Given the description of an element on the screen output the (x, y) to click on. 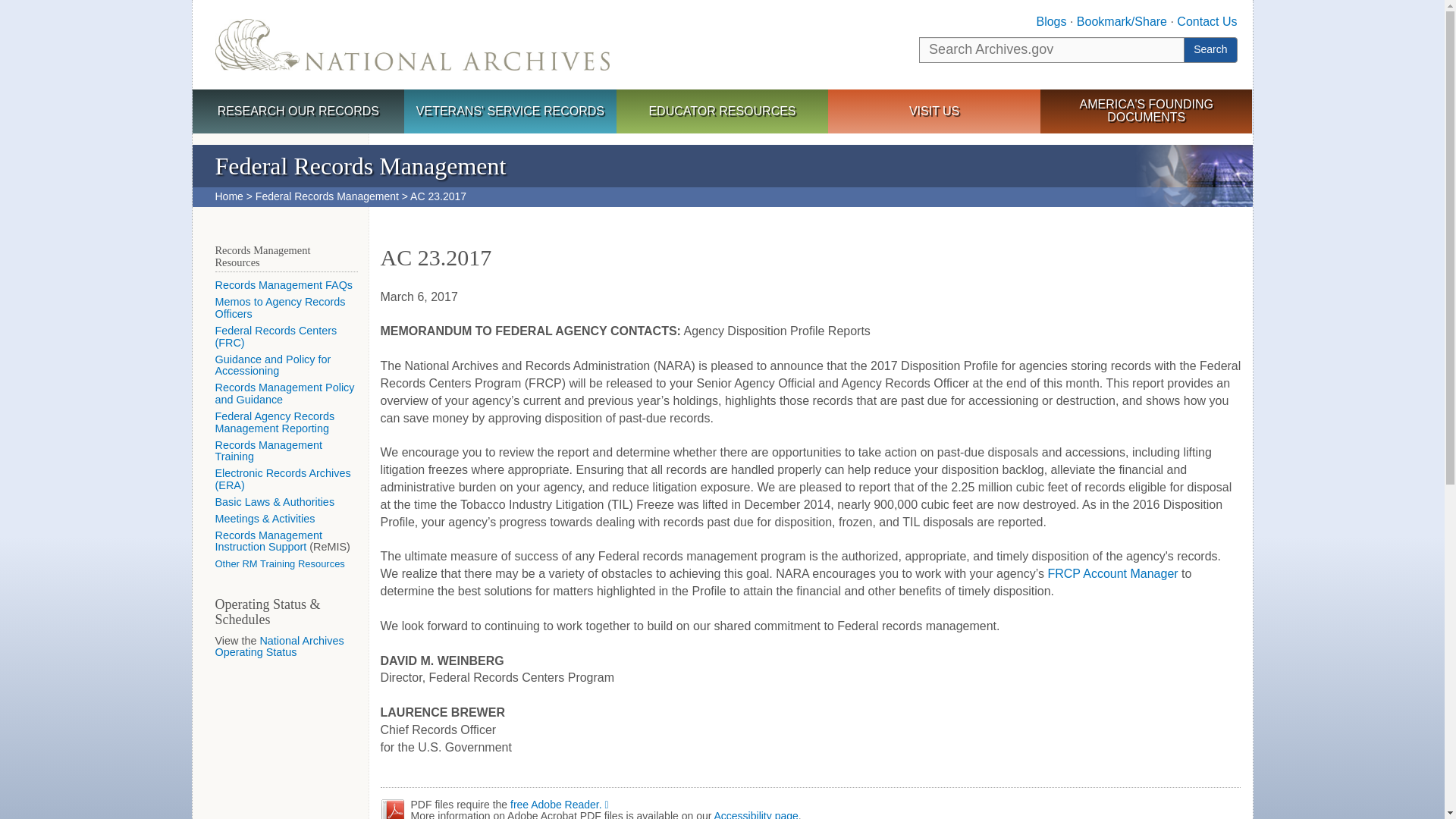
Federal Records Management (327, 196)
VISIT US (934, 111)
AMERICA'S FOUNDING DOCUMENTS (1146, 111)
Contact Us (1206, 21)
Federal Agency Records Management Reporting (274, 422)
VETERANS' SERVICE RECORDS (509, 111)
Records Management Policy and Guidance (285, 393)
National Archives Operating Status (279, 646)
EDUCATOR RESOURCES (721, 111)
FRCP Account Manager (1111, 573)
Search (1209, 49)
